Given the description of an element on the screen output the (x, y) to click on. 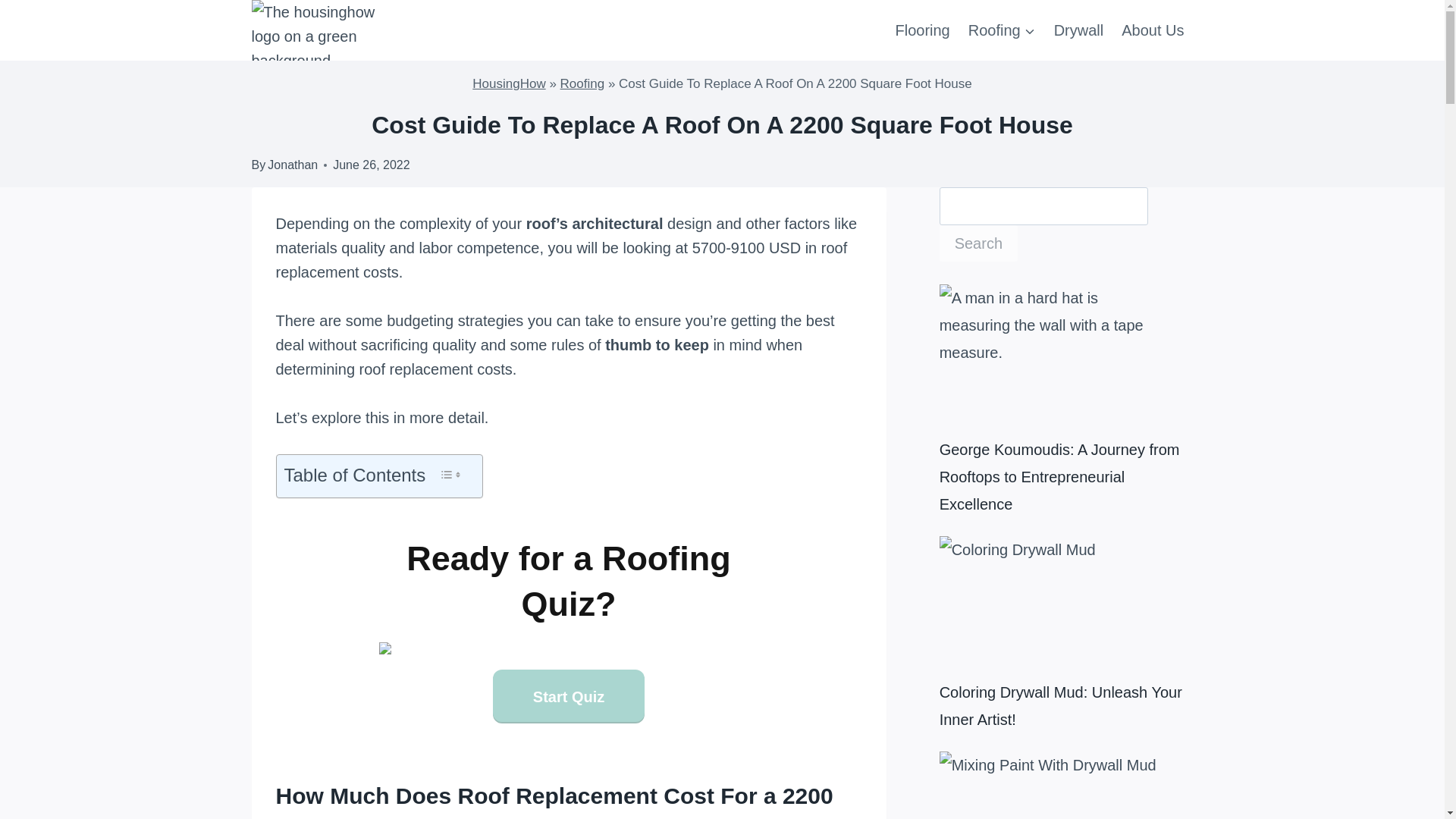
Start Quiz (569, 695)
About Us (1152, 30)
Jonathan (292, 164)
HousingHow (507, 83)
Roofing (582, 83)
Roofing (1002, 30)
Drywall (1079, 30)
Flooring (921, 30)
